Given the description of an element on the screen output the (x, y) to click on. 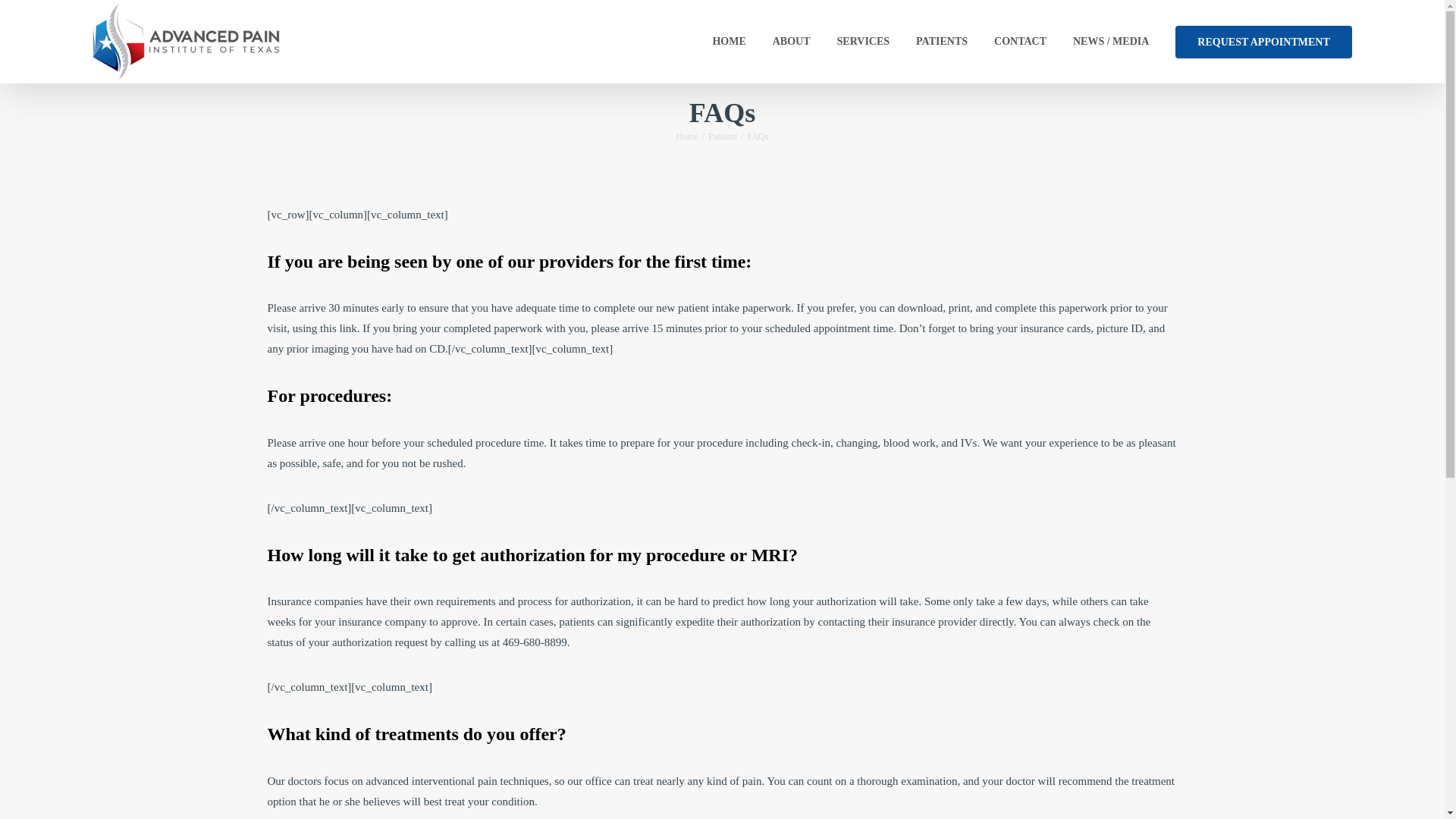
Home (687, 136)
REQUEST APPOINTMENT (1262, 41)
Patients (721, 136)
